Given the description of an element on the screen output the (x, y) to click on. 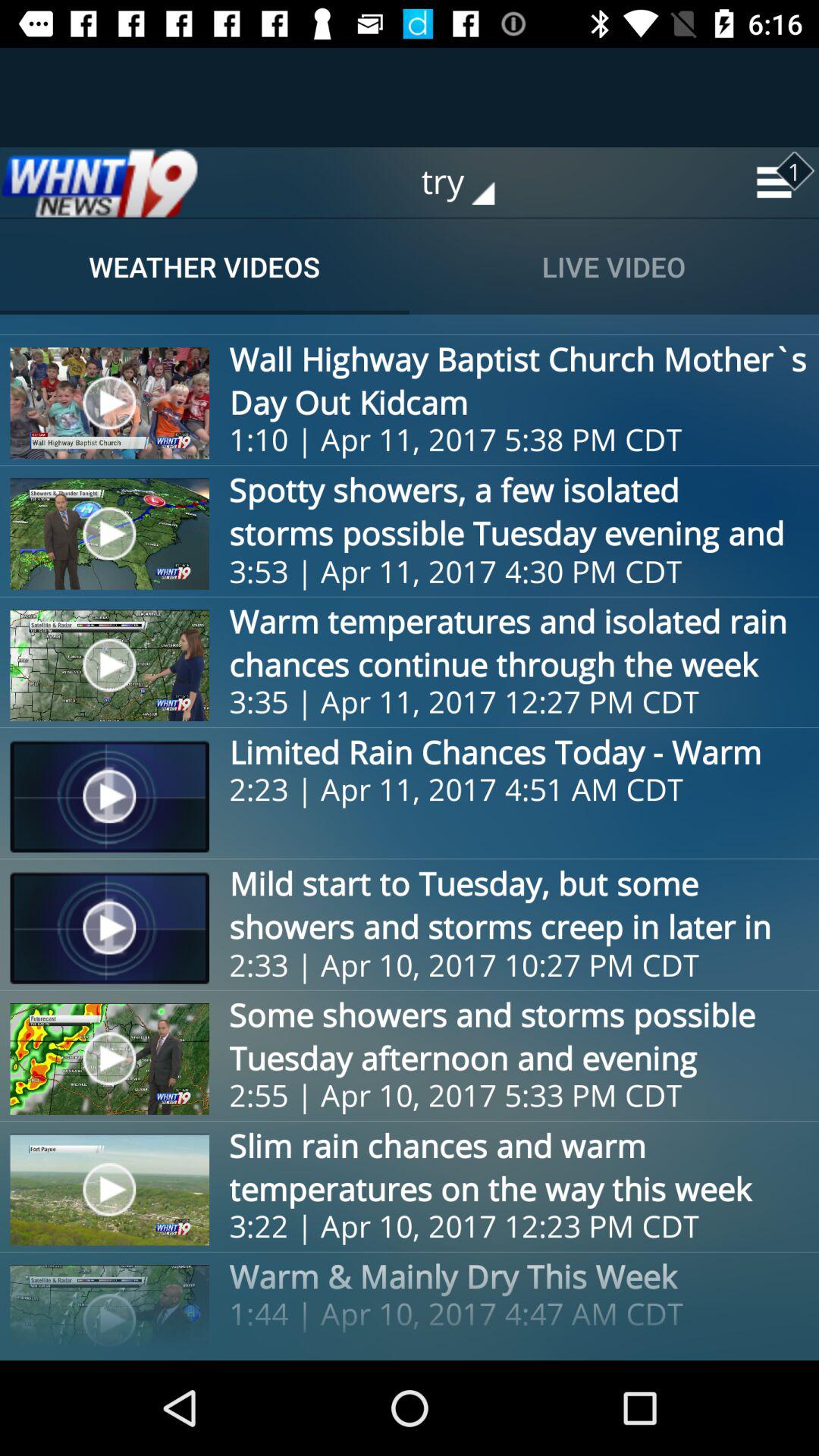
home page (99, 182)
